Given the description of an element on the screen output the (x, y) to click on. 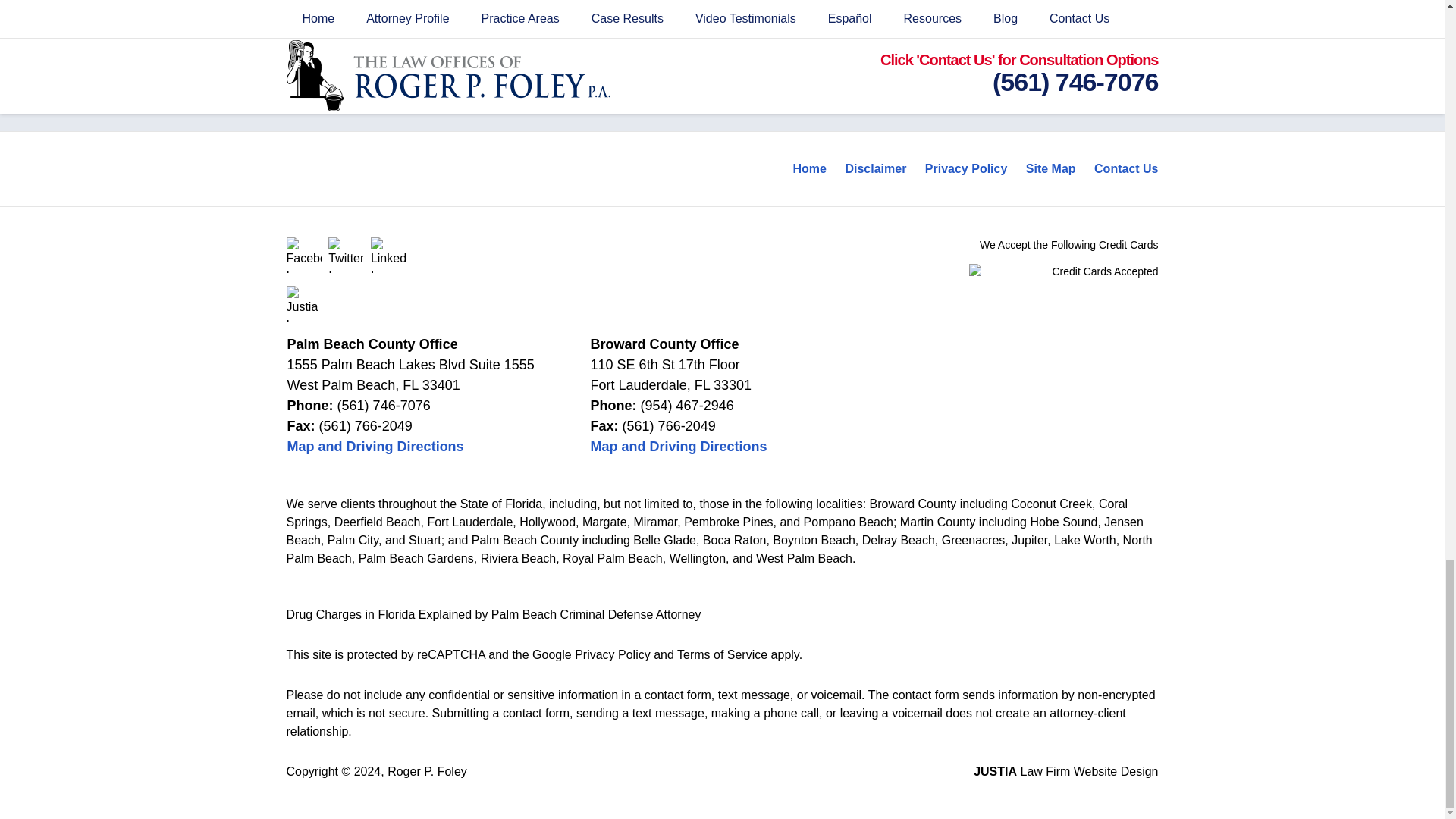
Facebook (303, 254)
Twitter (345, 254)
Justia (303, 303)
LinkedIn (388, 254)
